Given the description of an element on the screen output the (x, y) to click on. 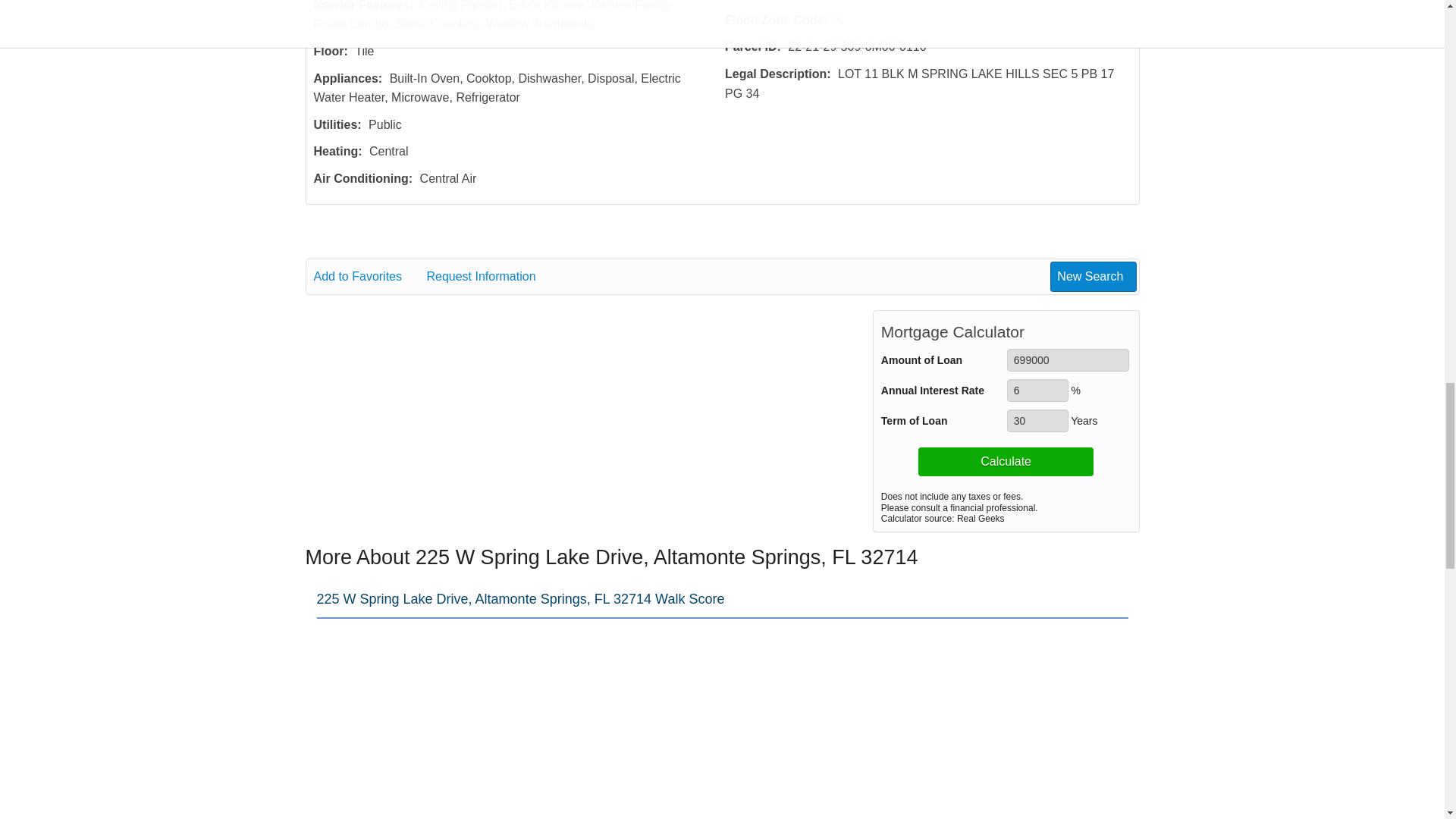
30 (1037, 420)
6 (1037, 390)
699000 (1068, 359)
